Given the description of an element on the screen output the (x, y) to click on. 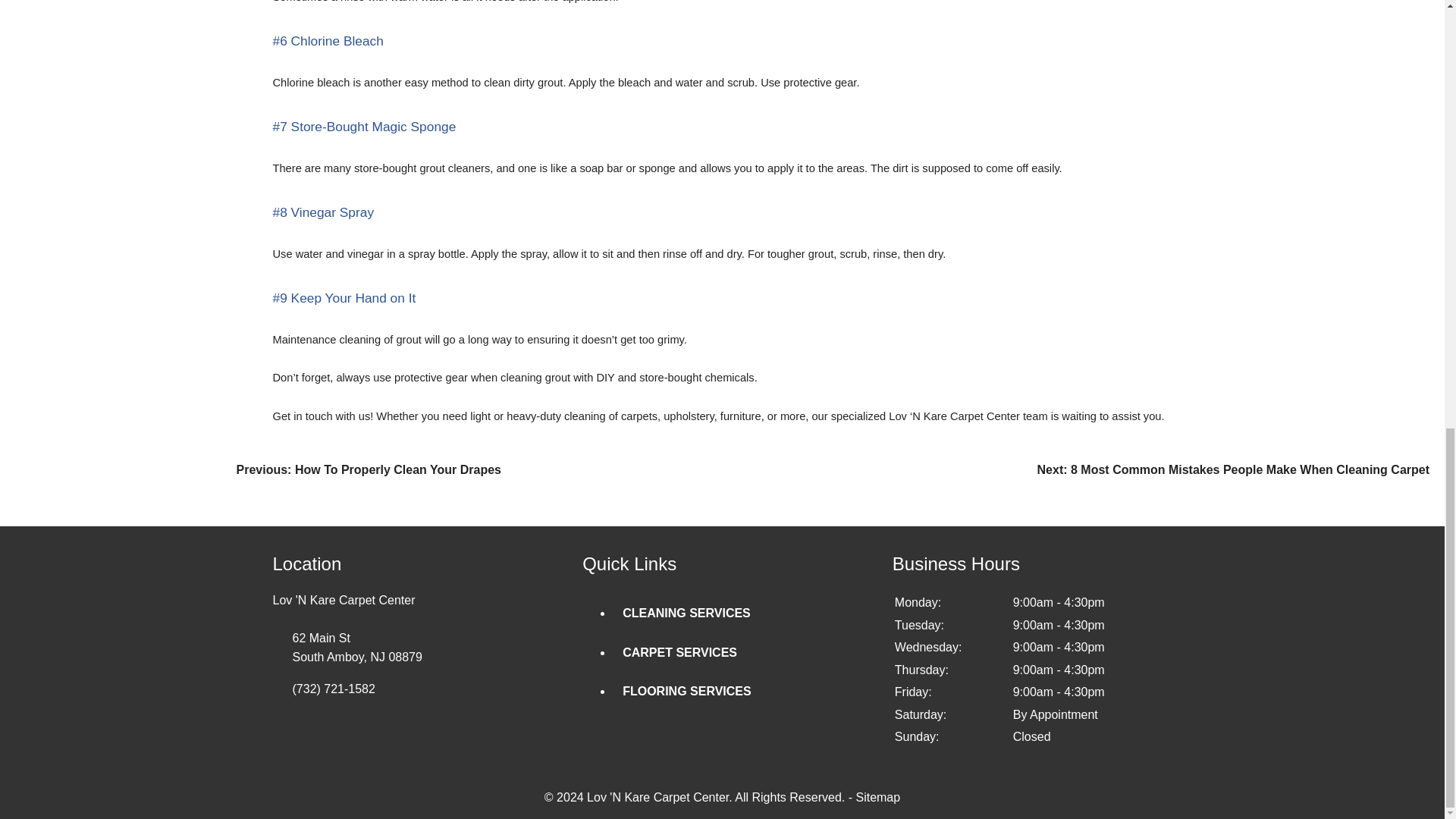
Facebook (339, 744)
Terms and Conditions (788, 797)
Call Today (428, 689)
Google Listing (306, 744)
Cleaning Services in South Amboy, NJ (687, 612)
Google Listing (428, 647)
